Given the description of an element on the screen output the (x, y) to click on. 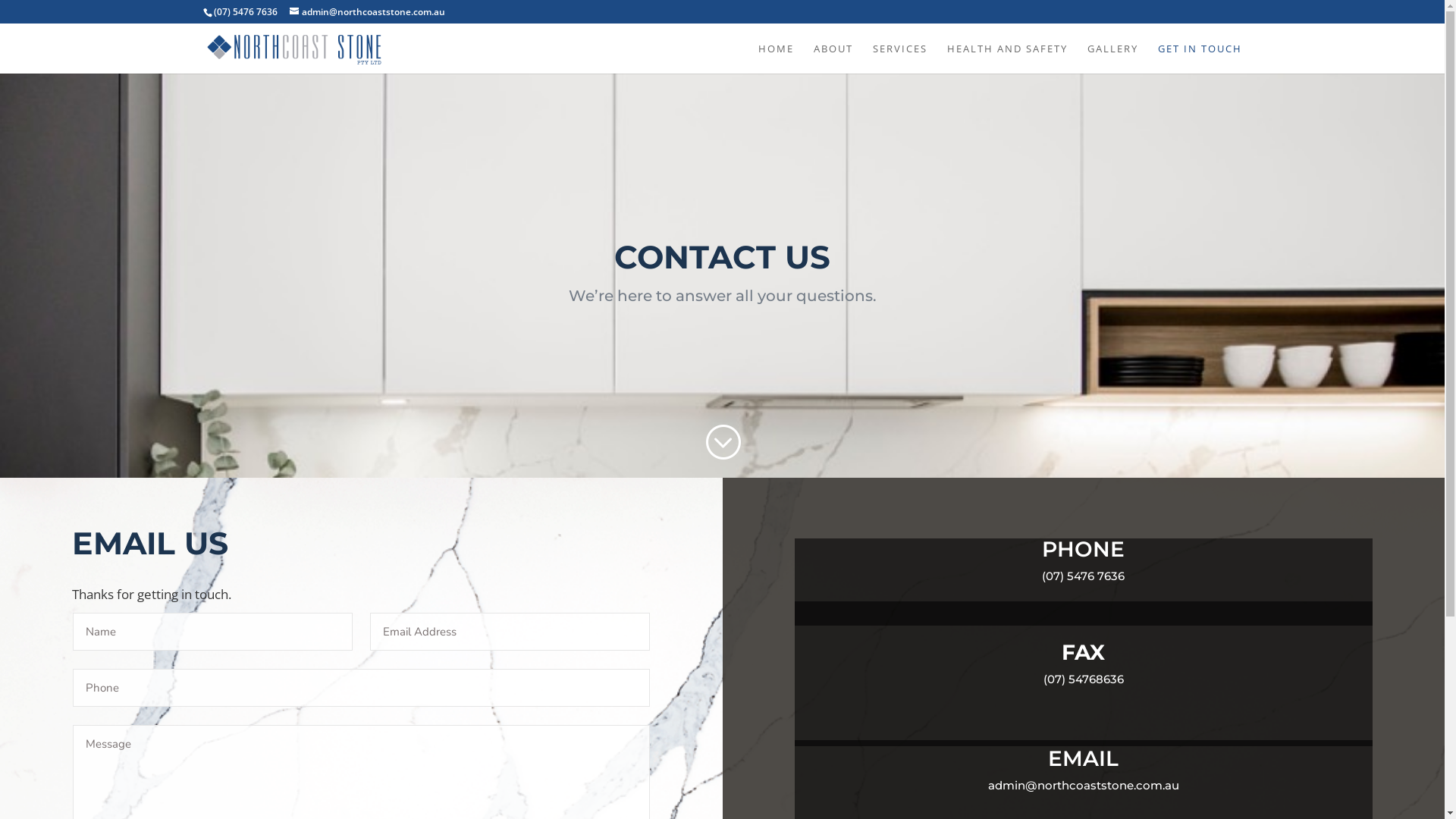
admin@northcoaststone.com.au Element type: text (367, 11)
GALLERY Element type: text (1112, 58)
HEALTH AND SAFETY Element type: text (1006, 58)
ABOUT Element type: text (832, 58)
SERVICES Element type: text (899, 58)
; Element type: text (721, 442)
Only numbers allowed.Maximum length: 94 characters. Element type: hover (360, 687)
GET IN TOUCH Element type: text (1199, 58)
HOME Element type: text (775, 58)
(07) 5476 7636 Element type: text (245, 11)
